Given the description of an element on the screen output the (x, y) to click on. 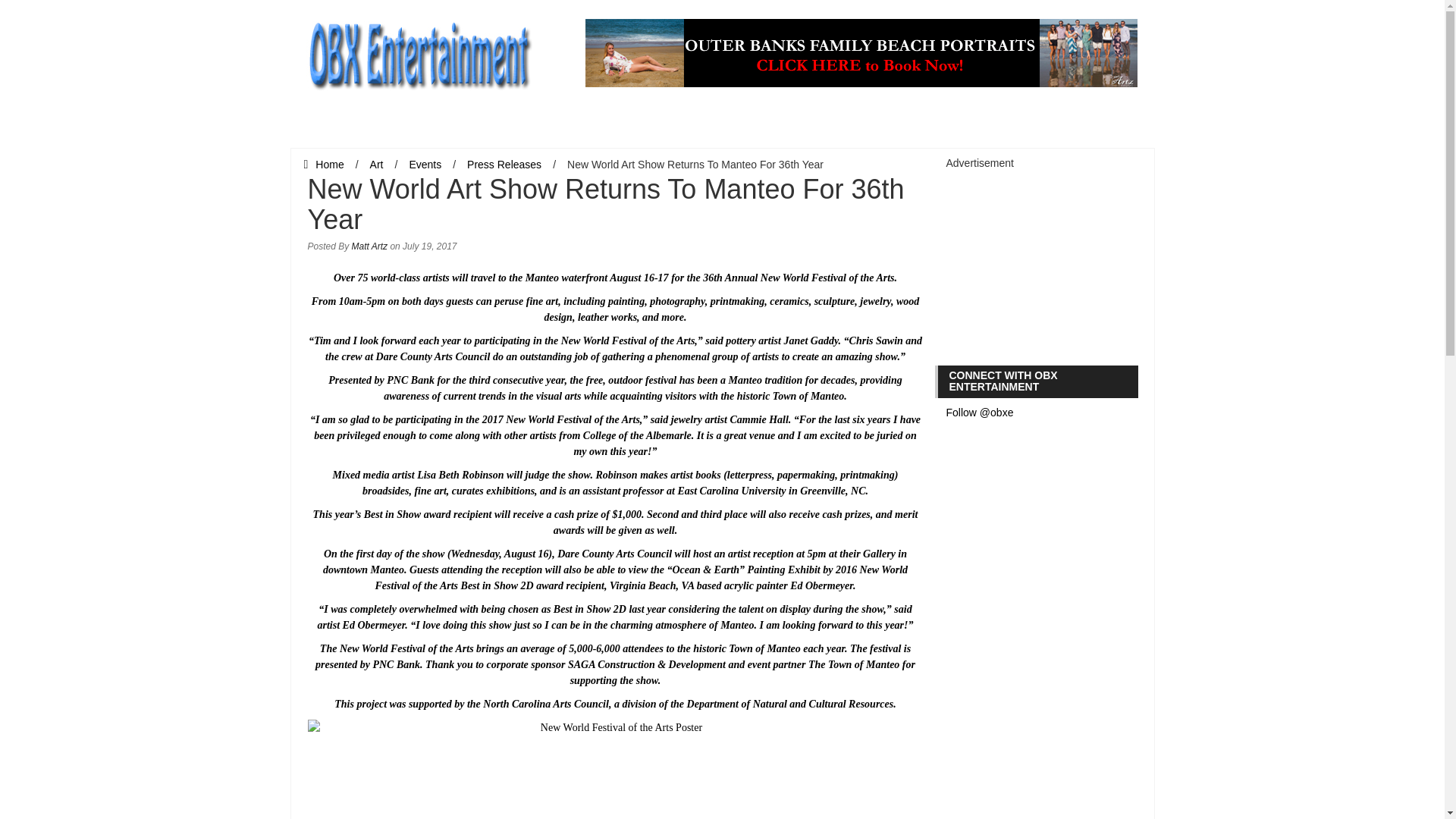
Posts by Matt Artz (370, 245)
OBX Entertainment (418, 51)
Art (376, 164)
Home (322, 164)
Events (425, 164)
Press Releases (504, 164)
Matt Artz (370, 245)
Advertisement (1059, 266)
